Given the description of an element on the screen output the (x, y) to click on. 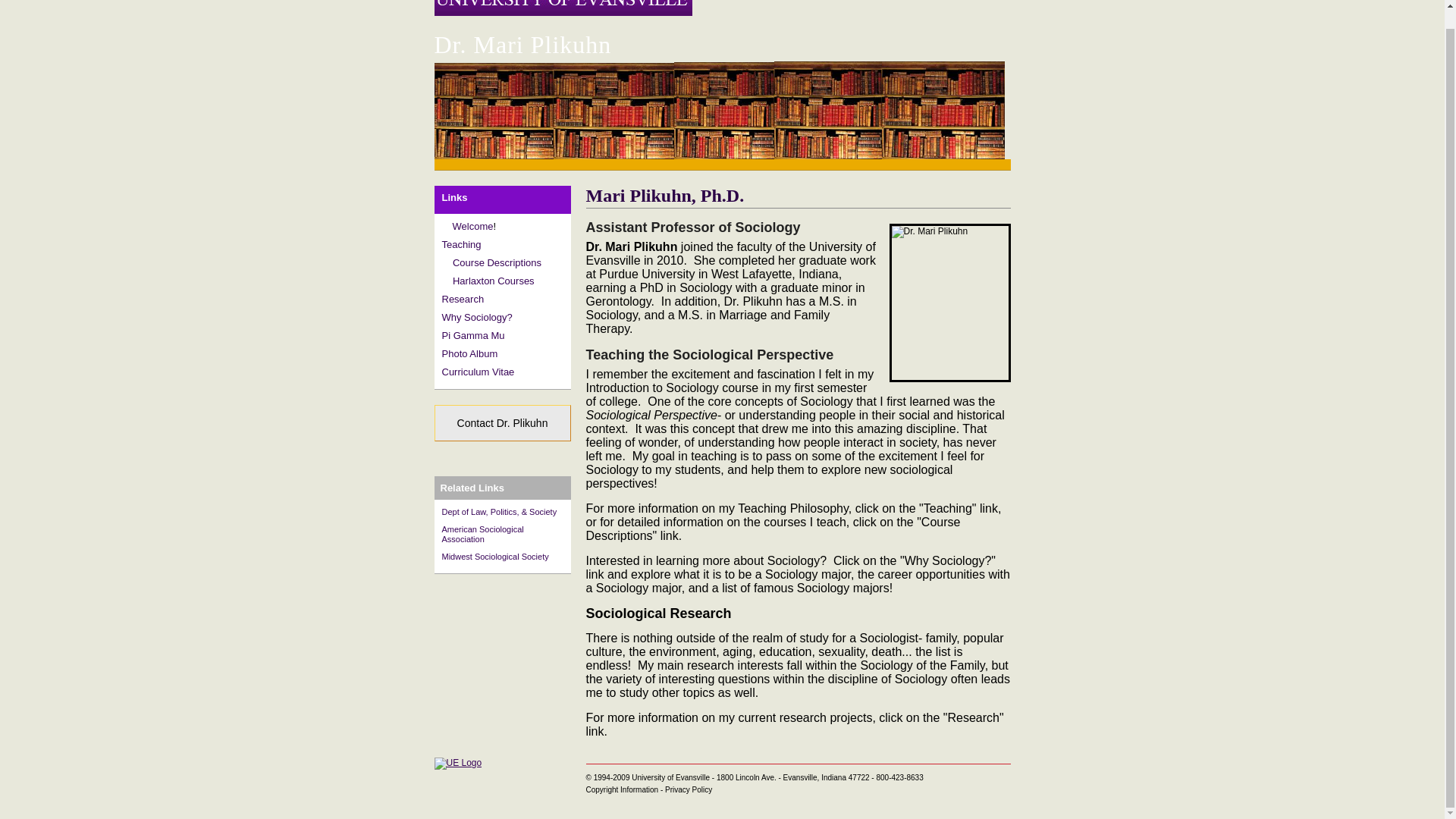
Midwest Sociological Society (494, 556)
Introduction (451, 225)
Contact Dr. Plikuhn (501, 422)
Photo Album (469, 353)
W (451, 225)
University of Evansville (457, 762)
Teaching (460, 244)
Copyright Information (621, 789)
Course Descriptions (496, 262)
Why Sociology? (476, 317)
American Sociological Association (481, 533)
Privacy Policy (688, 789)
Curriculum Vitae (477, 371)
Research (462, 298)
i Gamma Mu (475, 335)
